Given the description of an element on the screen output the (x, y) to click on. 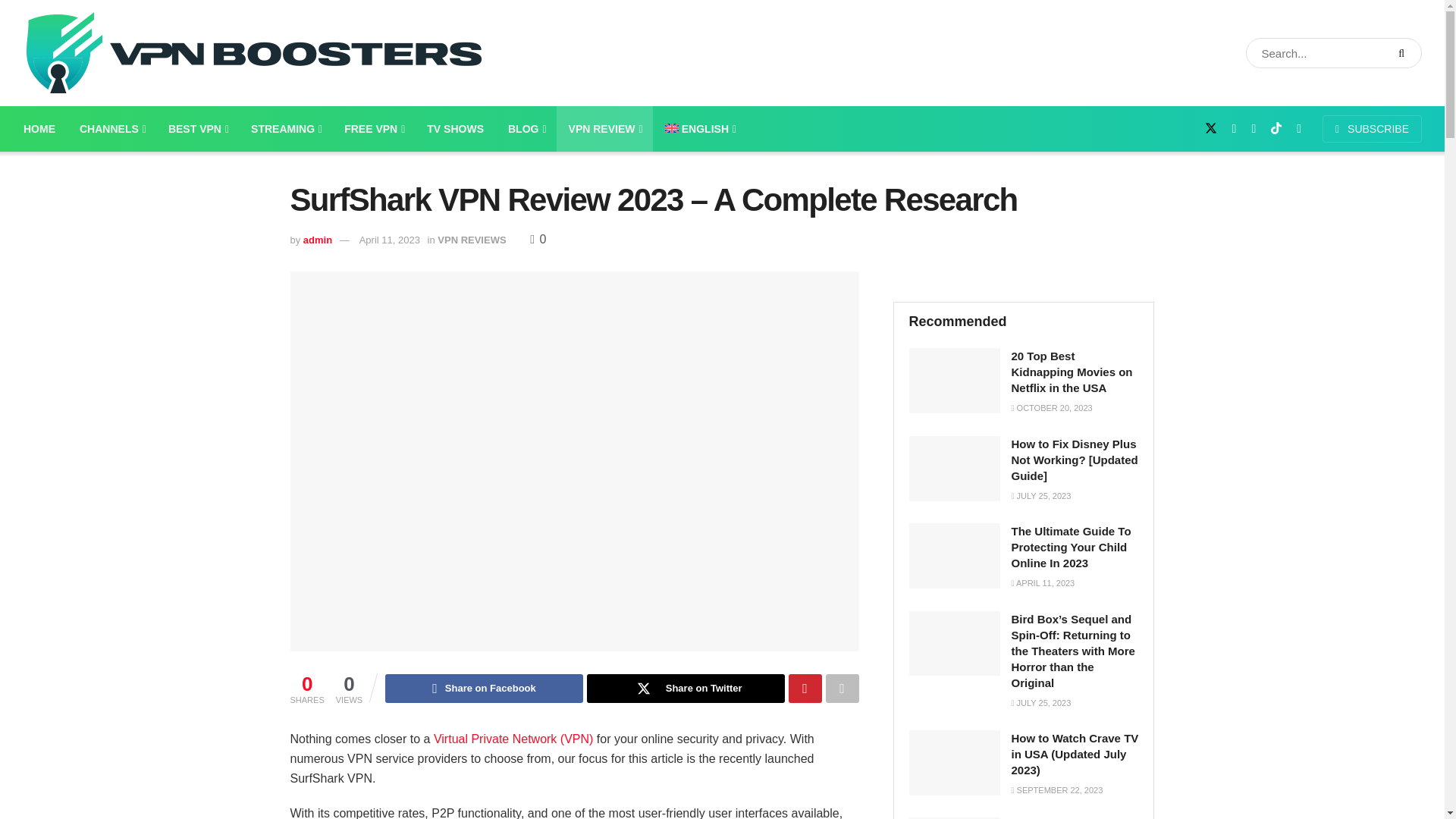
VPN REVIEW (604, 128)
BLOG (526, 128)
FREE VPN (372, 128)
HOME (38, 128)
BEST VPN (196, 128)
English (699, 128)
STREAMING (284, 128)
TV SHOWS (455, 128)
CHANNELS (110, 128)
